Given the description of an element on the screen output the (x, y) to click on. 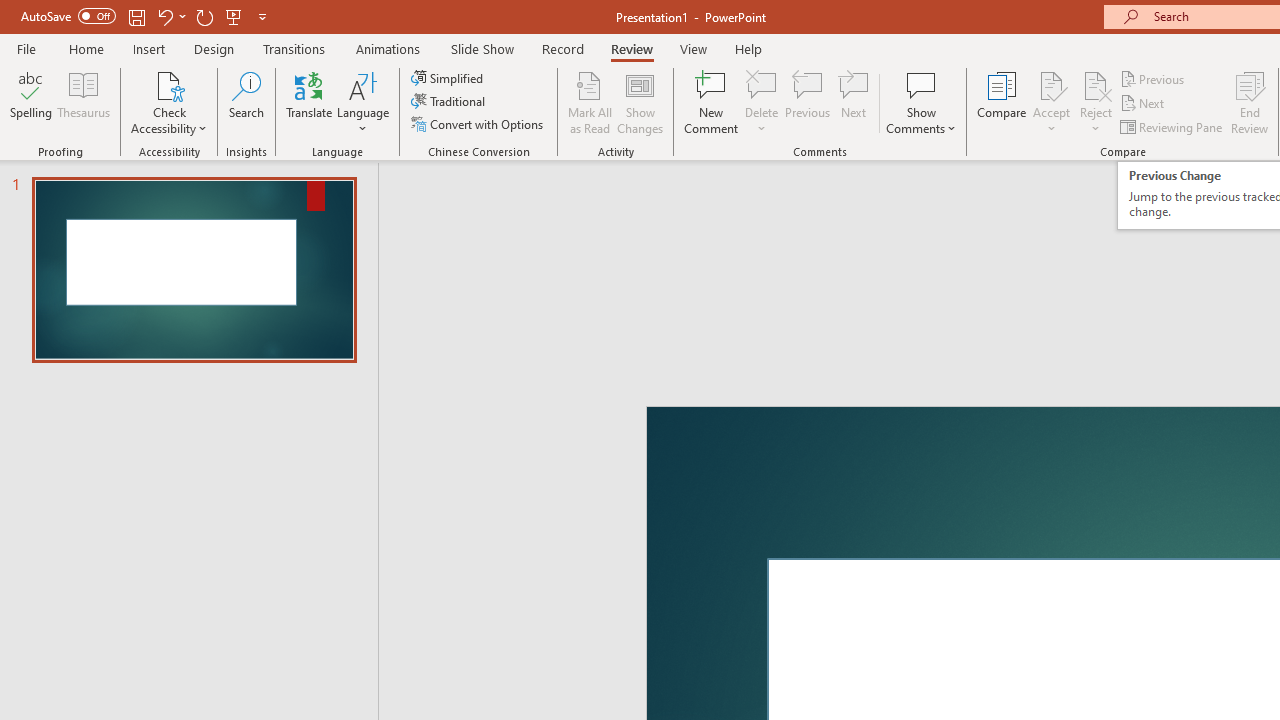
Convert with Options... (479, 124)
Compare (1002, 102)
Reject Change (1096, 84)
